Given the description of an element on the screen output the (x, y) to click on. 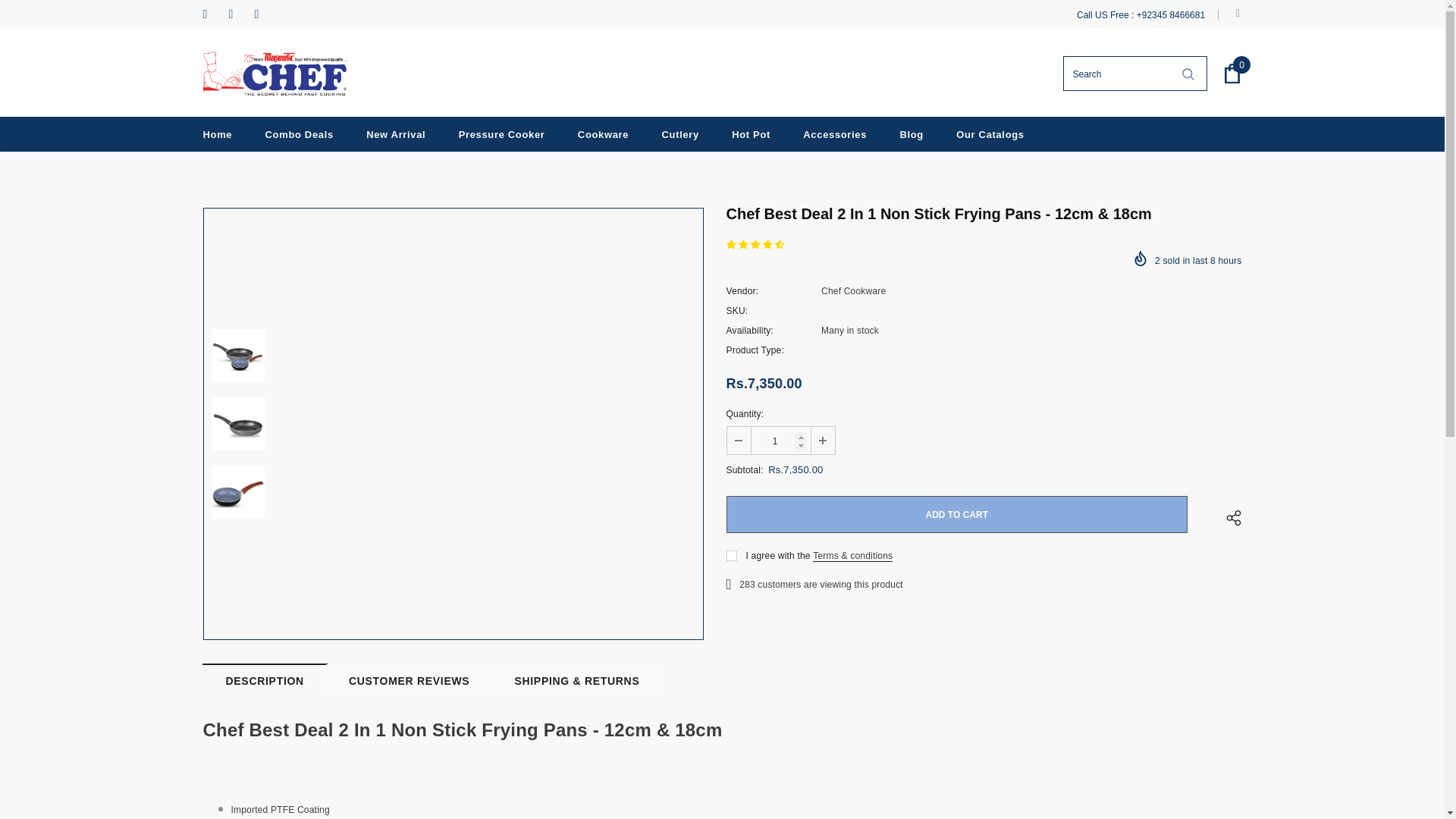
Combo Deals (298, 133)
Instagram (237, 14)
Logo (275, 73)
Accessories (834, 133)
Pressure Cooker (501, 133)
Hot Pot (751, 133)
YouTube (263, 14)
Add to cart (957, 514)
Facebook (212, 14)
New Arrival (395, 133)
Chef Cookware (853, 290)
0 (1232, 73)
Chef Cookware (853, 290)
Cart Icon (1232, 73)
Add to cart (957, 514)
